Given the description of an element on the screen output the (x, y) to click on. 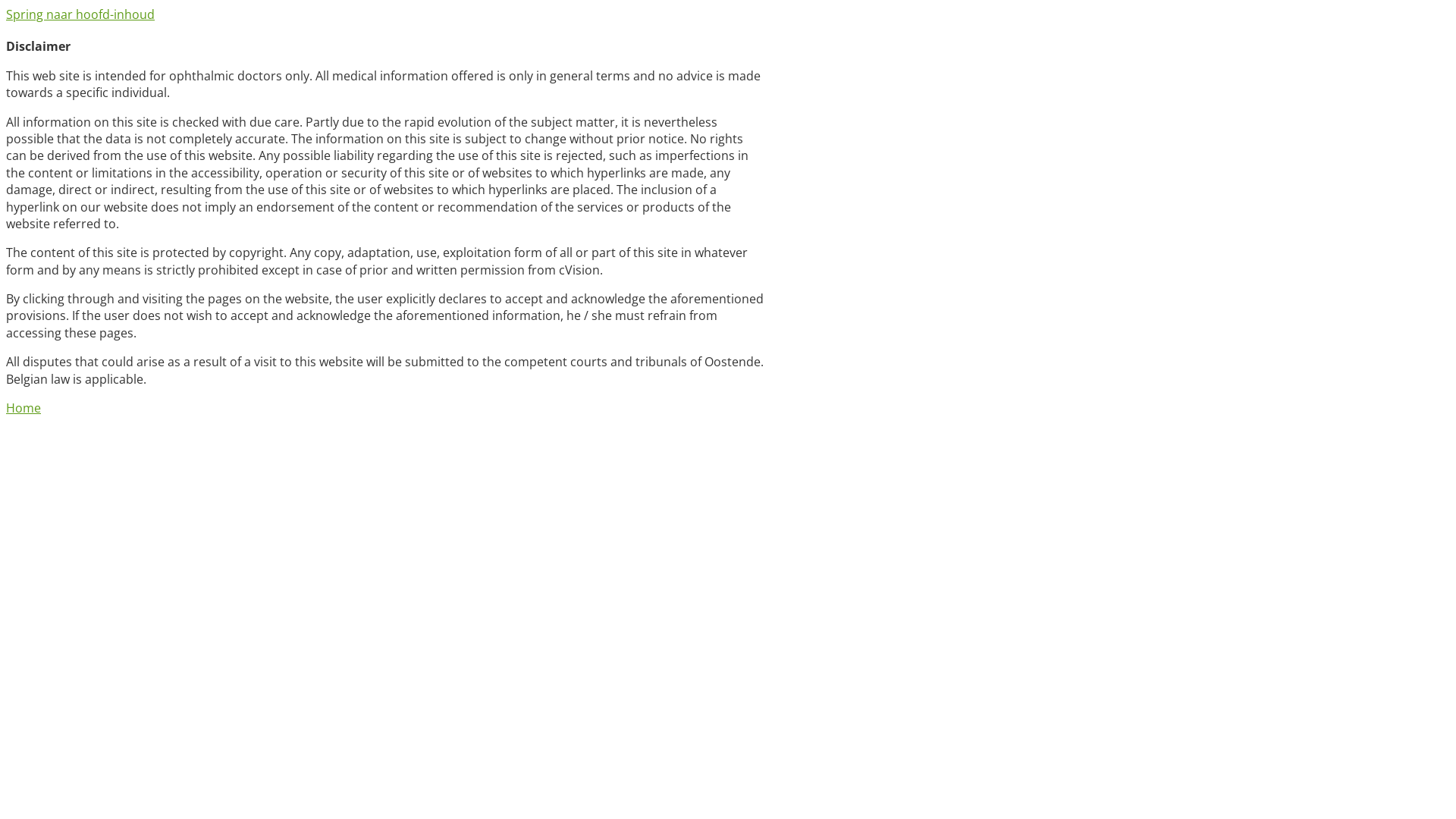
Spring naar hoofd-inhoud Element type: text (80, 14)
Home Element type: text (23, 407)
